Given the description of an element on the screen output the (x, y) to click on. 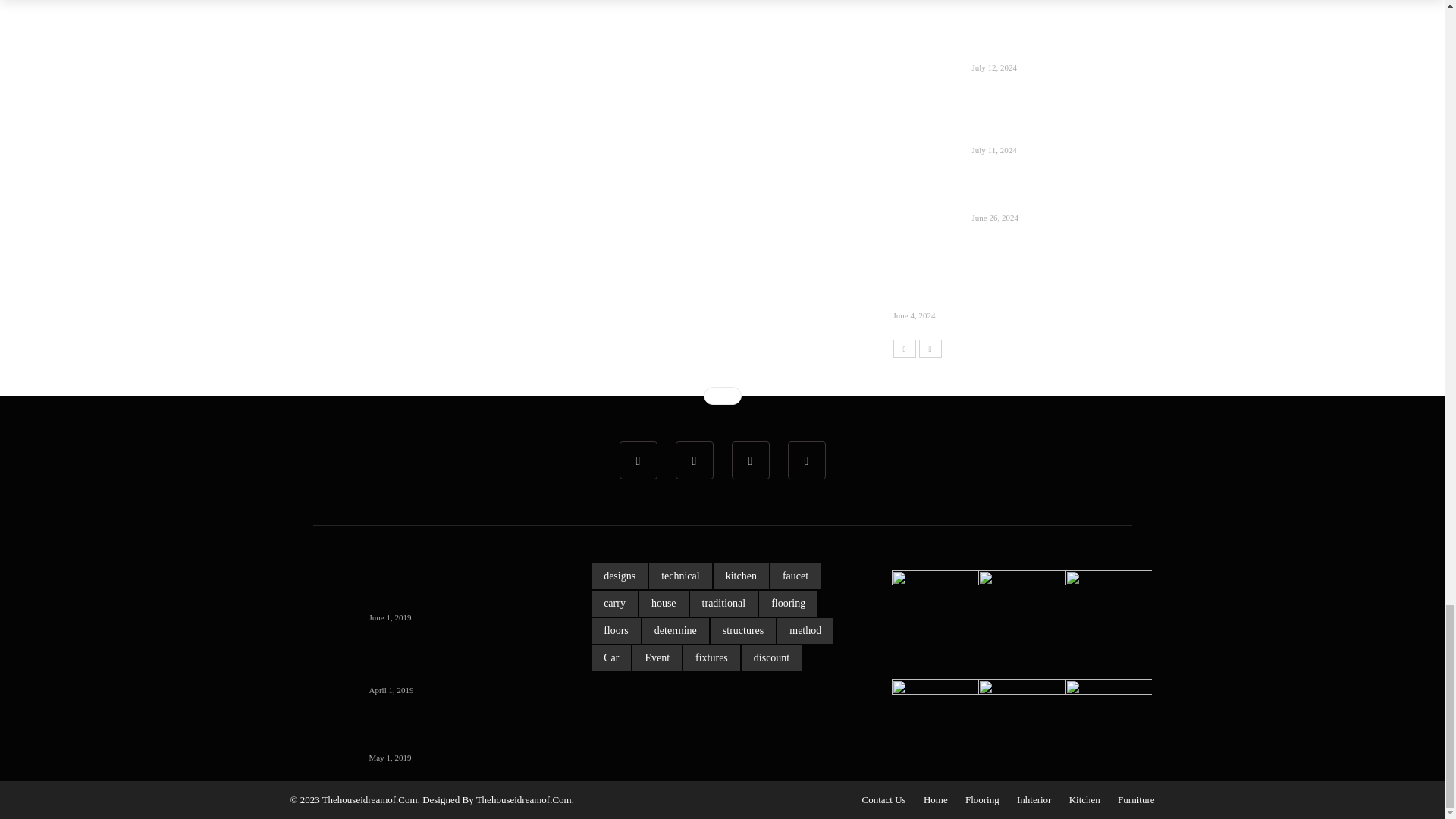
Next (930, 348)
Previous (904, 348)
